Given the description of an element on the screen output the (x, y) to click on. 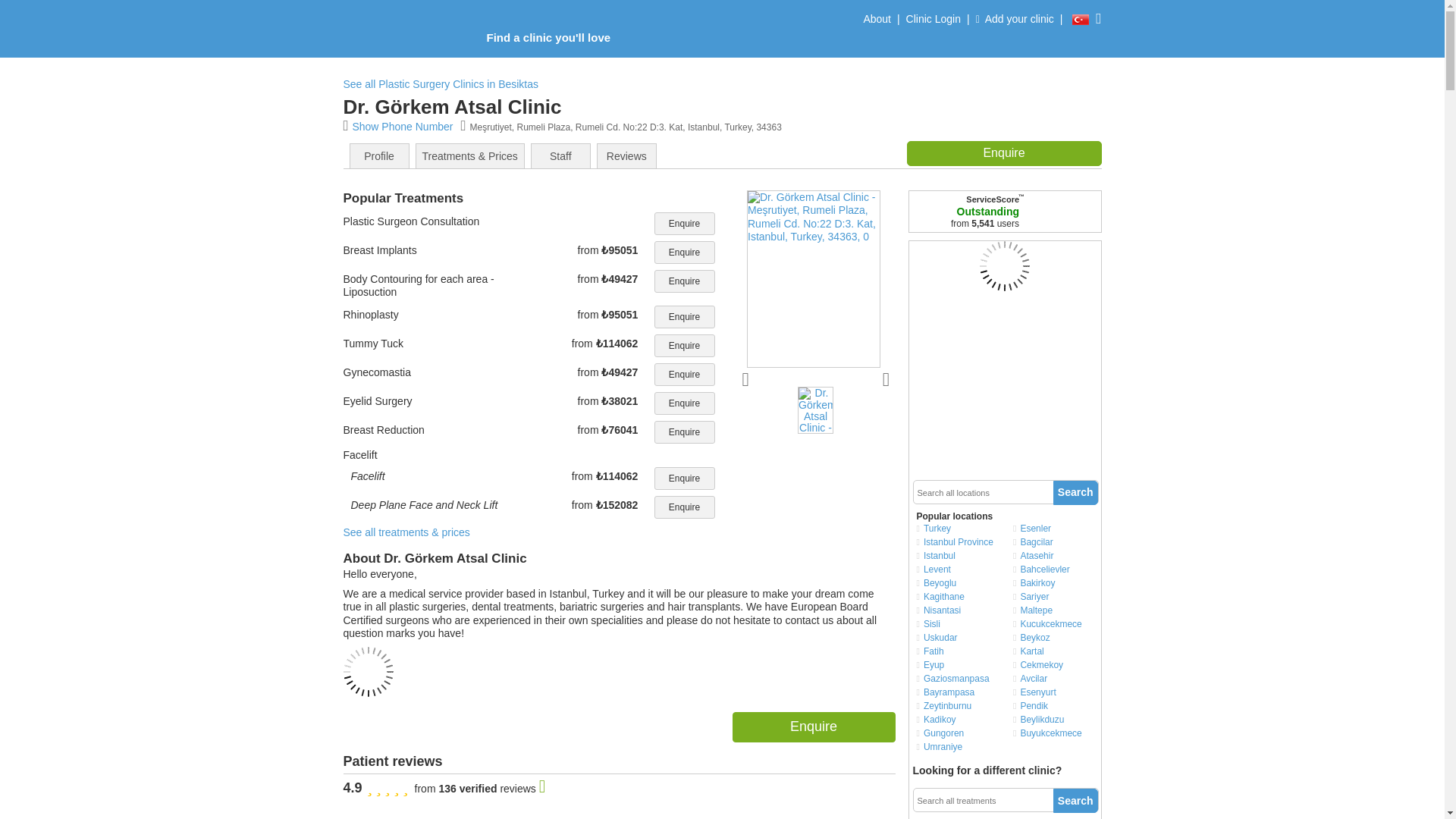
Enquire (683, 345)
Enquire (683, 507)
Istanbul (959, 555)
Gungoren (959, 733)
Nisantasi (959, 610)
Search (1074, 492)
Add your clinic (1014, 22)
Gaziosmanpasa (959, 678)
Eyup (959, 664)
Plastic Surgery Clinics in Fatih (959, 651)
